Given the description of an element on the screen output the (x, y) to click on. 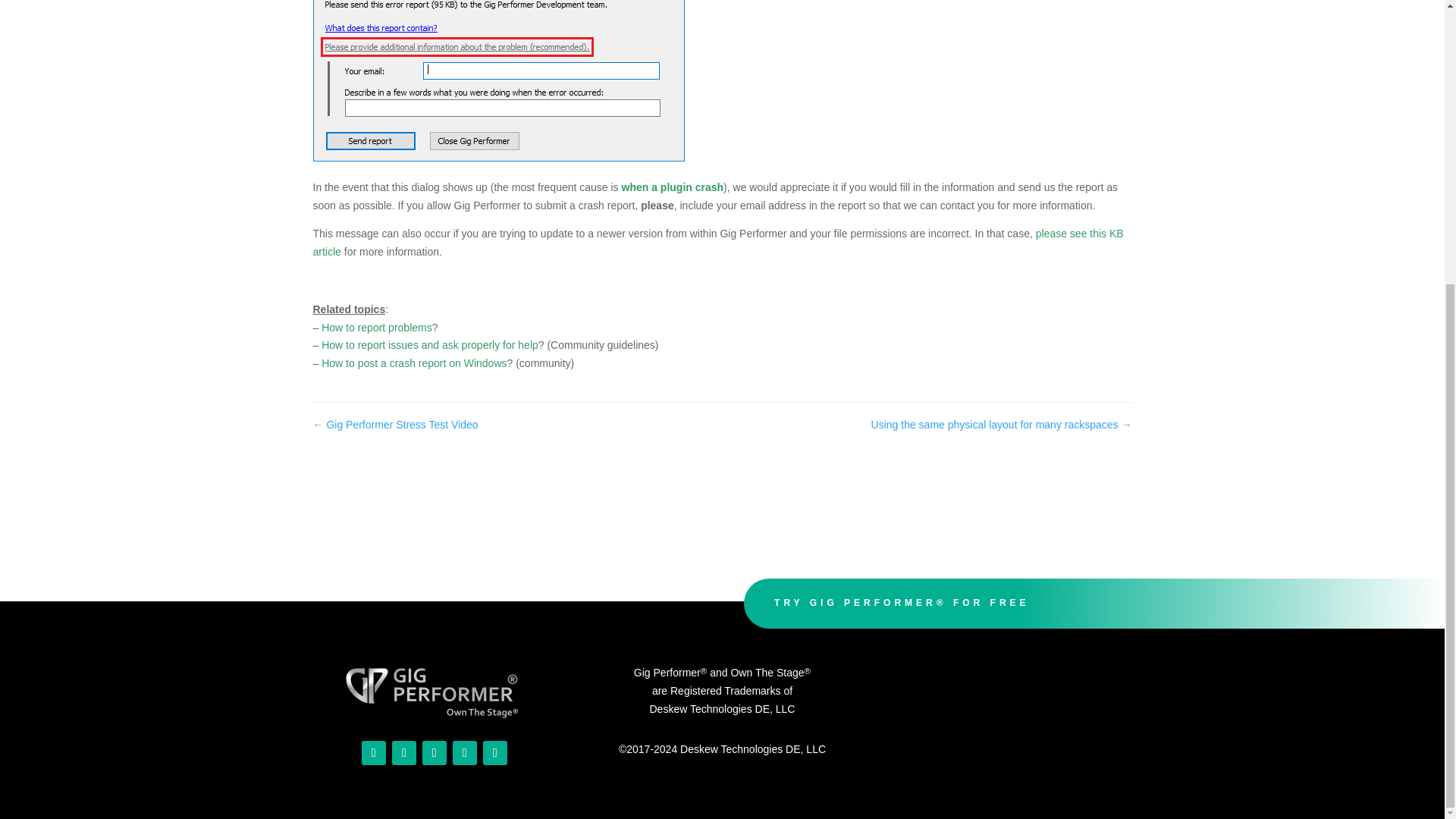
gigperformerlogo-wide-light-2 (434, 691)
Follow on Facebook (434, 752)
Enter your e-mail and describe the issue (498, 81)
Follow on Youtube (373, 752)
Follow on Instagram (403, 752)
Follow on X (494, 752)
Follow on LinkedIn (464, 752)
